Given the description of an element on the screen output the (x, y) to click on. 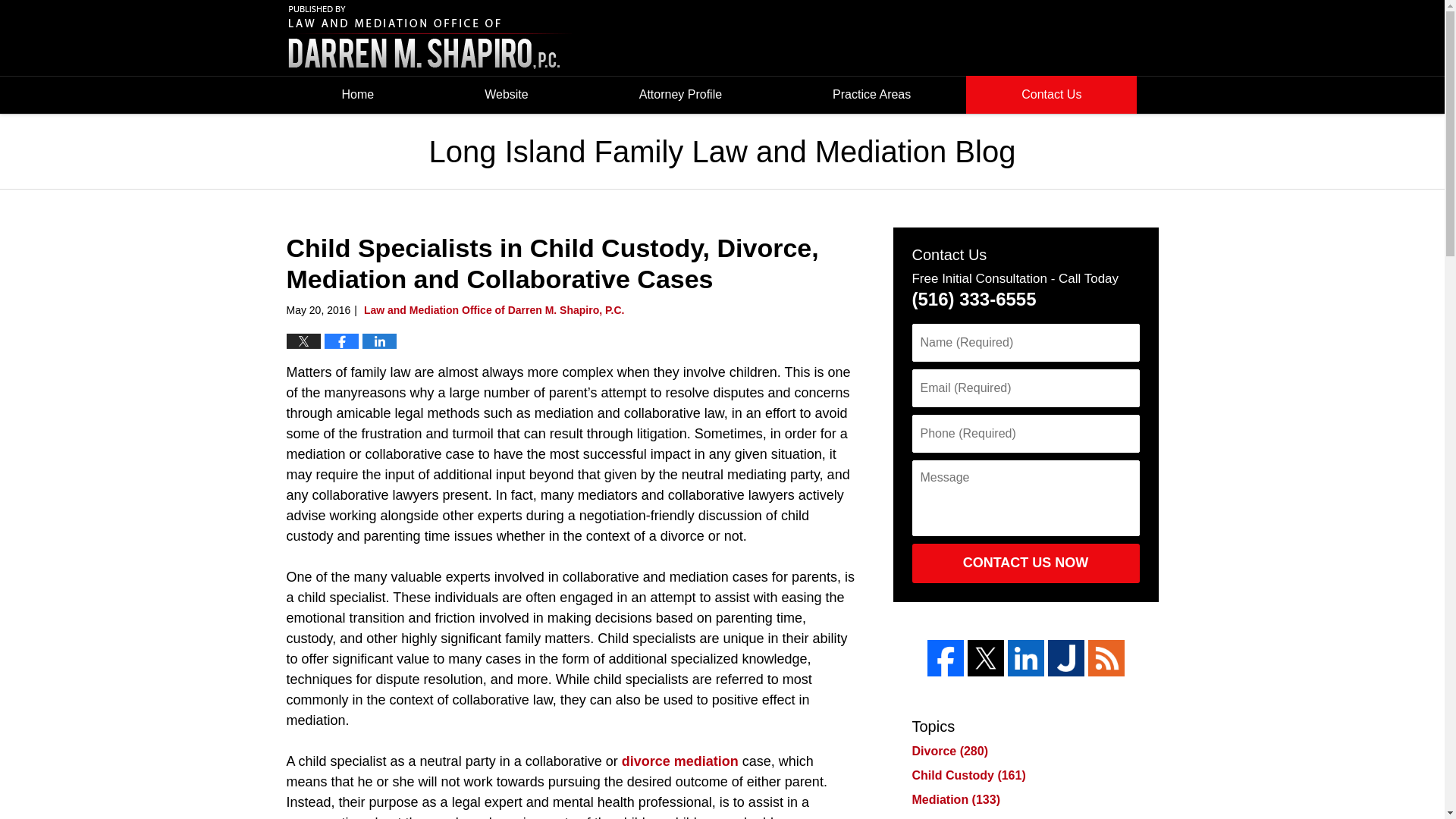
divorce mediation (679, 761)
Attorney Profile (680, 94)
LinkedIn (1025, 657)
Feed (1105, 657)
Twitter (986, 657)
Published By Law Office of Darren M. Shapiro (1023, 38)
Contact Us (1051, 94)
Practice Areas (871, 94)
Home (357, 94)
Website (506, 94)
Please enter a valid phone number. (1024, 433)
Facebook (944, 657)
Law and Mediation Office of Darren M. Shapiro, P.C. (494, 309)
Justia (1066, 657)
Long Island Family Law and Mediation Blog (430, 37)
